Given the description of an element on the screen output the (x, y) to click on. 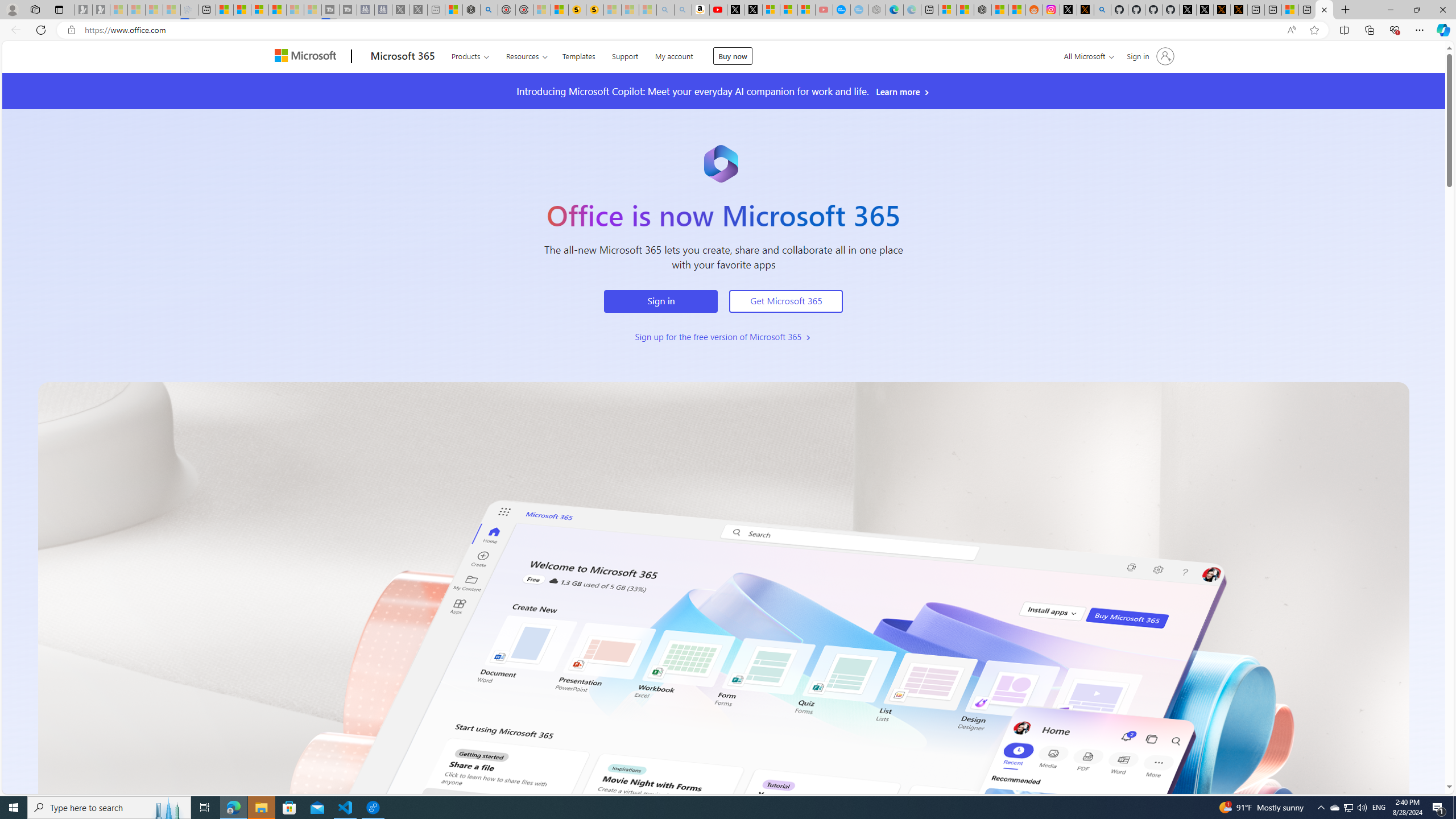
Learn more (903, 91)
Buy now (732, 55)
Get Microsoft 365 (786, 300)
Sign in (660, 300)
My account (673, 54)
